Given the description of an element on the screen output the (x, y) to click on. 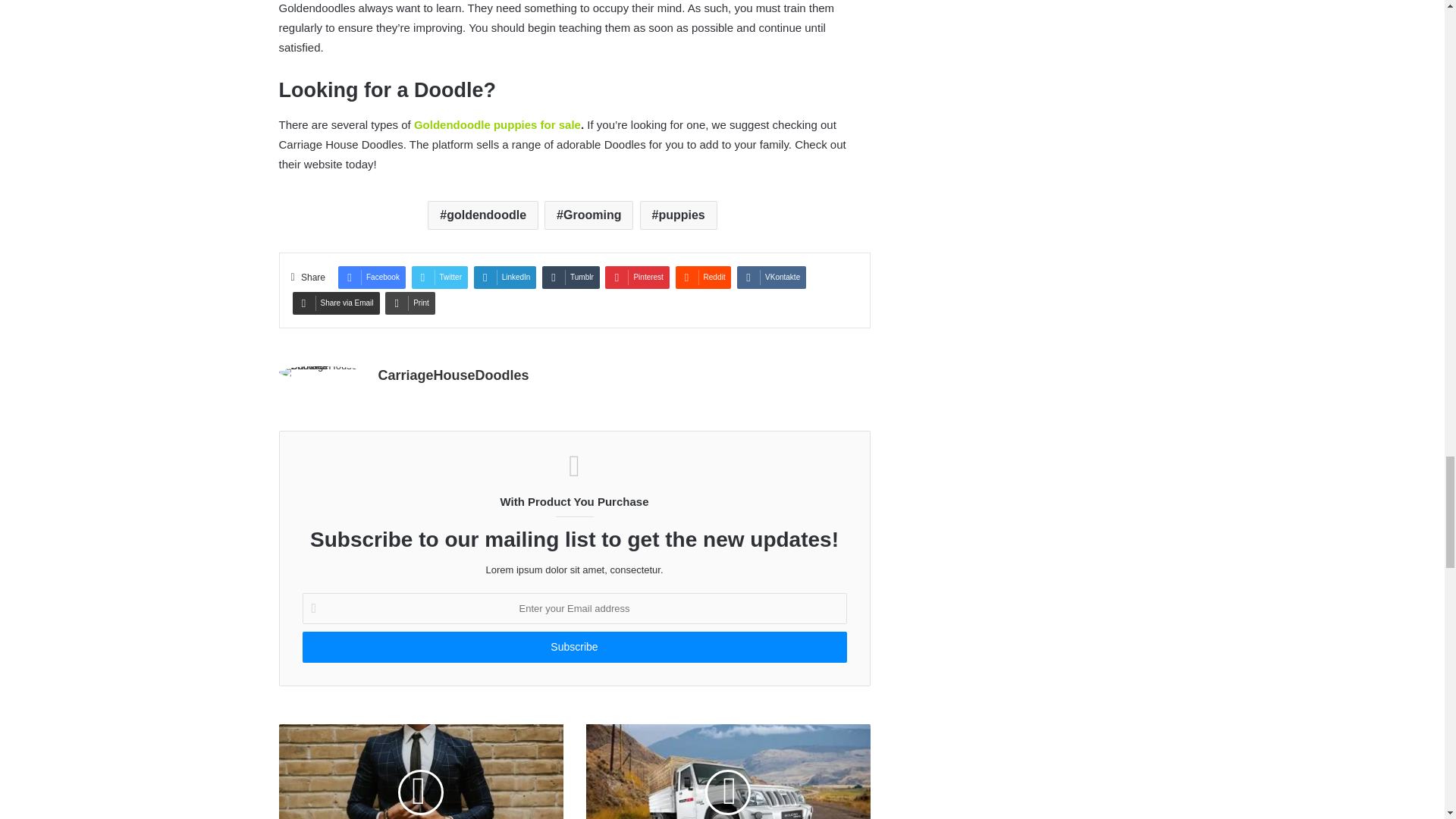
puppies (678, 215)
Goldendoodle puppies for sale (496, 124)
goldendoodle (483, 215)
Subscribe (573, 646)
Grooming (588, 215)
